Given the description of an element on the screen output the (x, y) to click on. 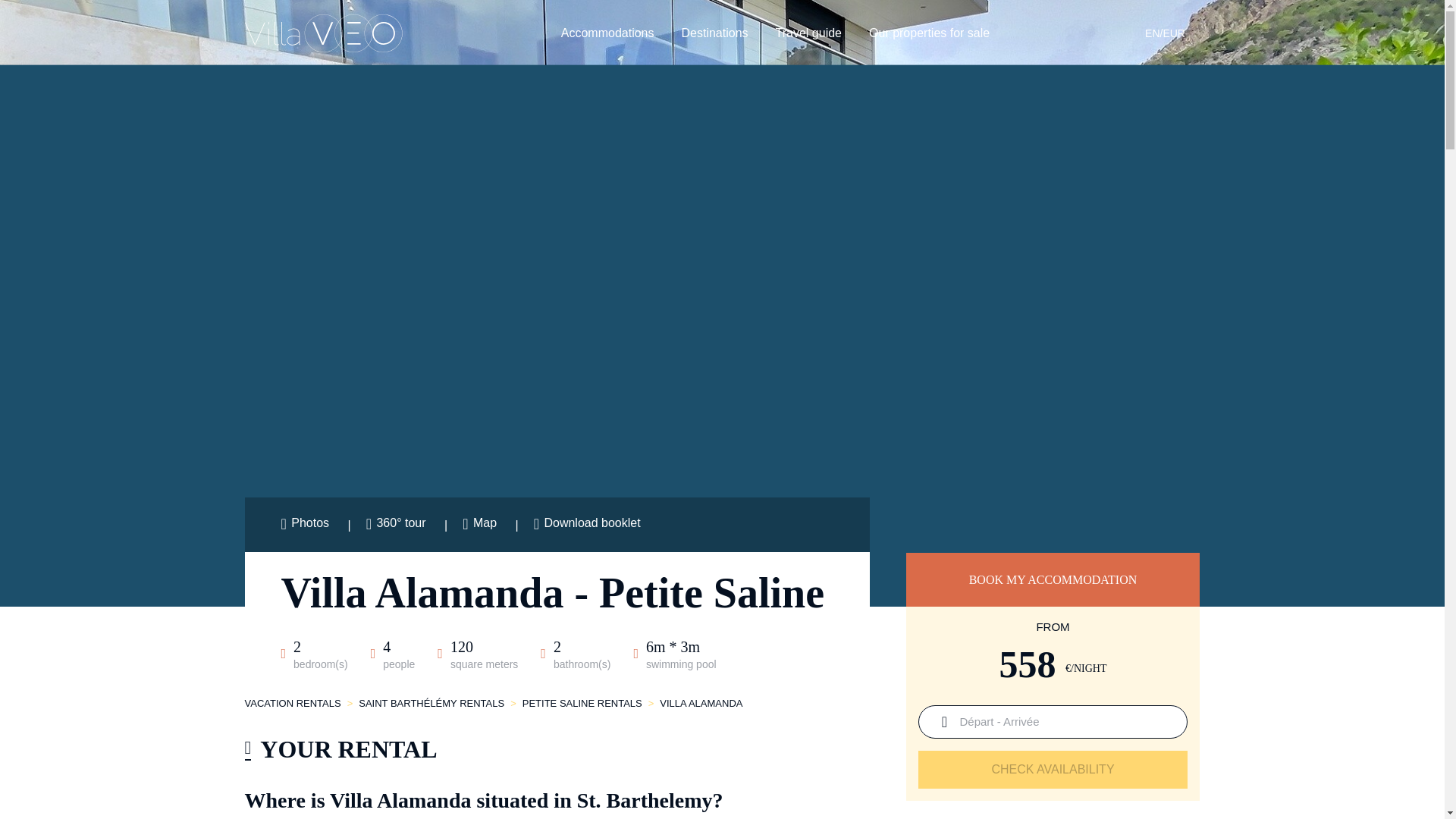
Destinations (714, 33)
CHECK AVAILABILITY (1052, 769)
Travel guide (808, 33)
VACATION RENTALS (292, 703)
Our properties for sale (929, 33)
Accommodations (606, 33)
PETITE SALINE RENTALS (582, 703)
Download booklet (587, 524)
Map (481, 524)
